Given the description of an element on the screen output the (x, y) to click on. 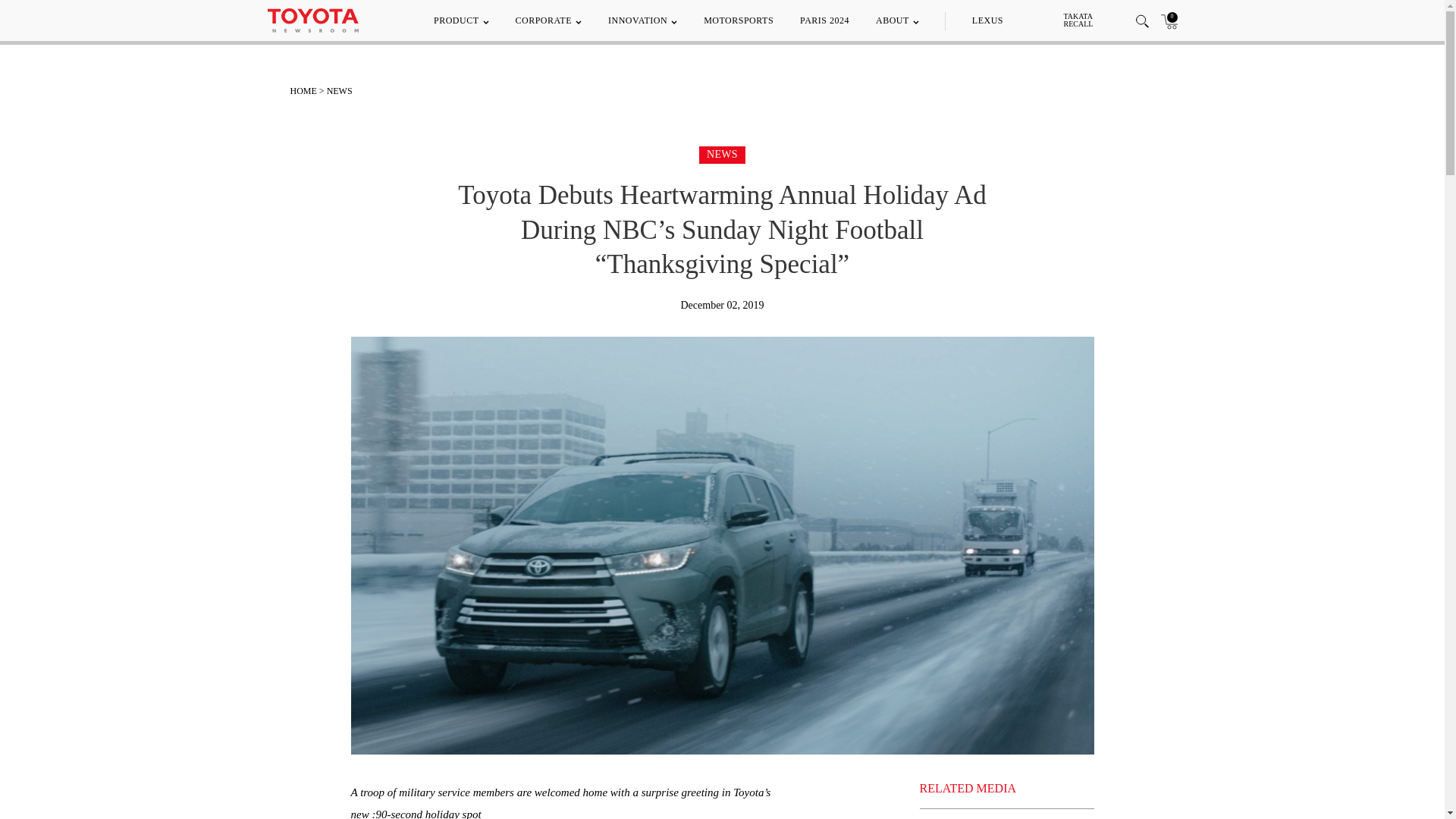
News (722, 153)
PRODUCT (461, 20)
